Given the description of an element on the screen output the (x, y) to click on. 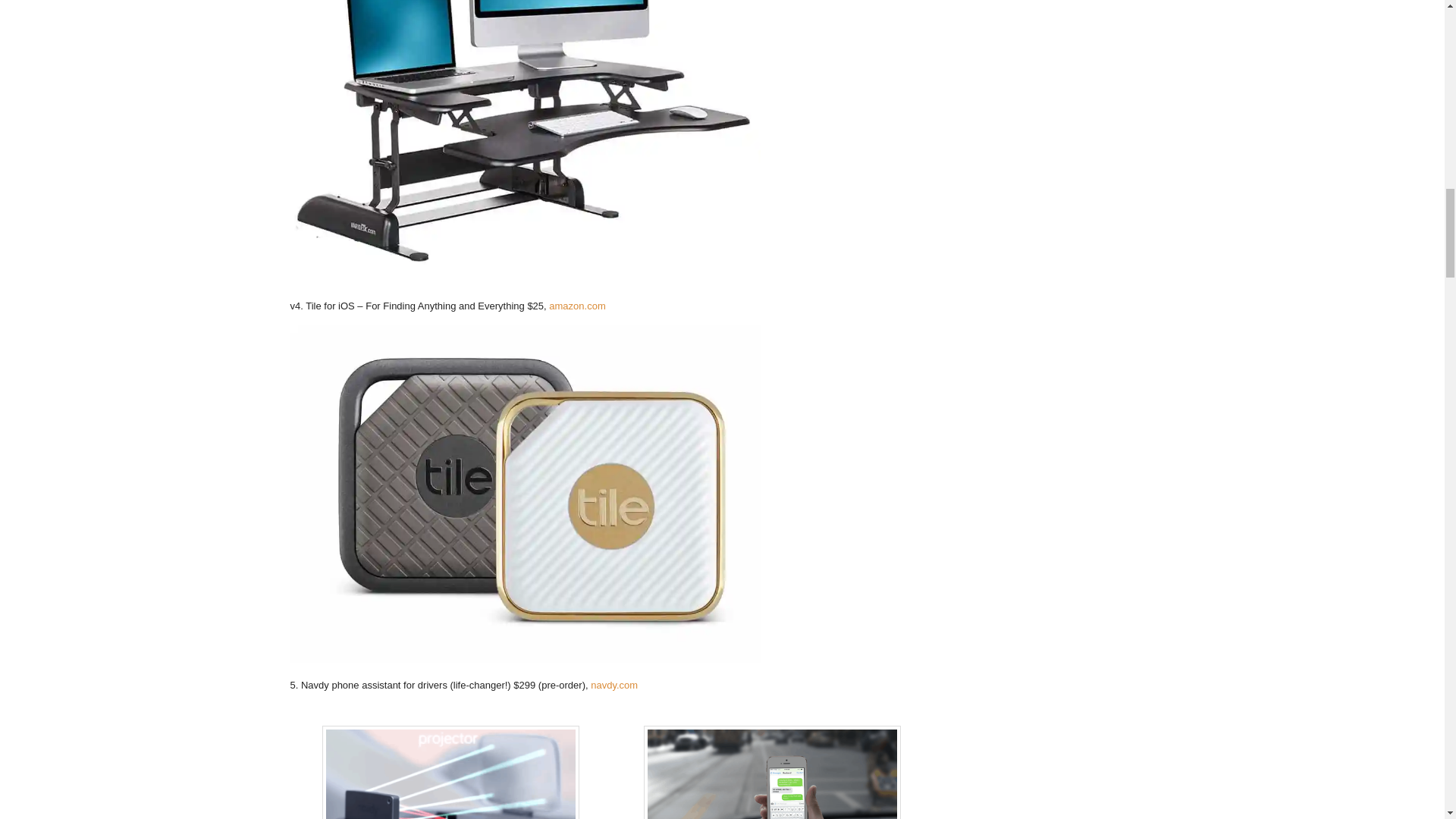
navdy.com (614, 685)
amazon.com (576, 306)
